Given the description of an element on the screen output the (x, y) to click on. 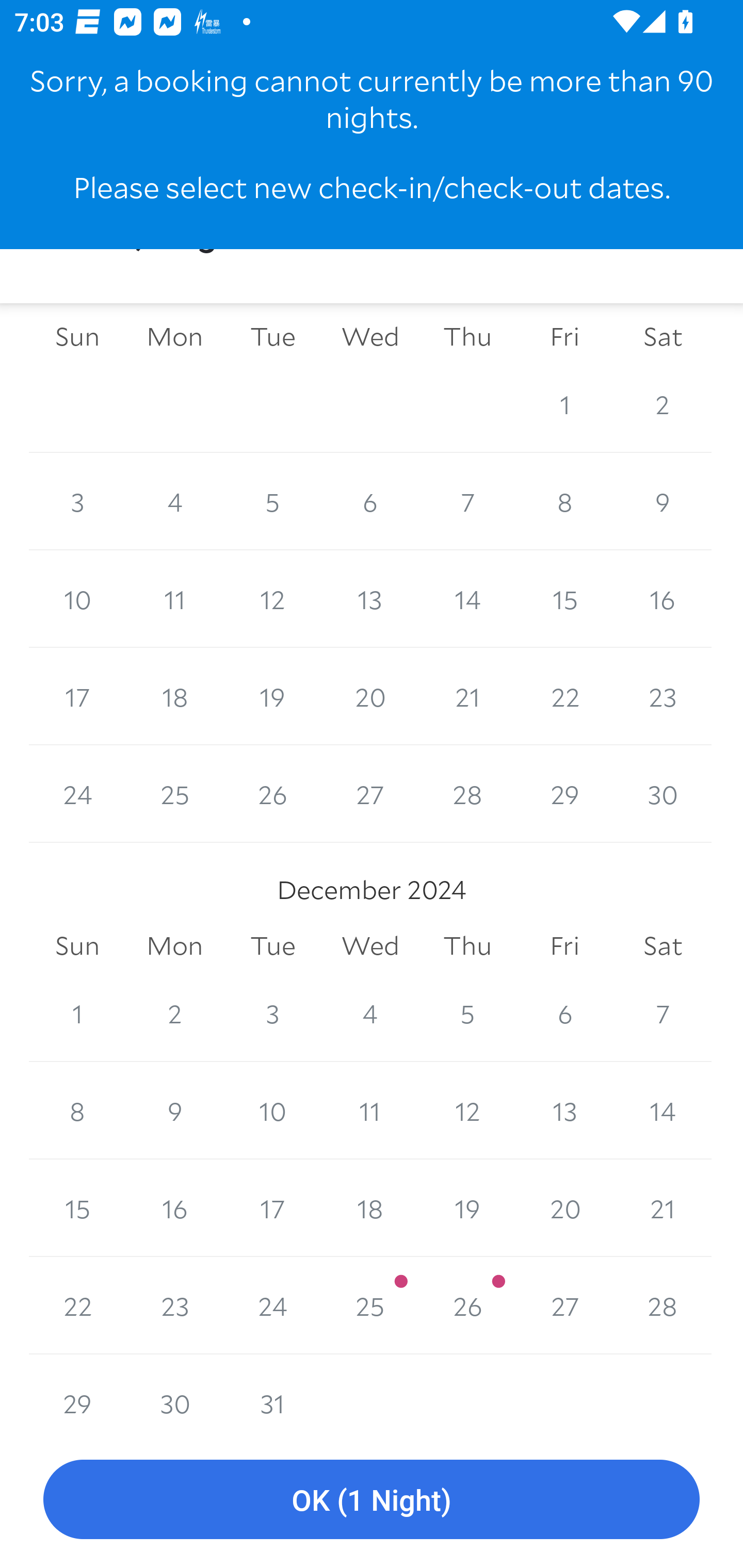
Sun (77, 336)
Mon (174, 336)
Tue (272, 336)
Wed (370, 336)
Thu (467, 336)
Fri (564, 336)
Sat (662, 336)
1 1 November 2024 (564, 404)
2 2 November 2024 (662, 404)
3 3 November 2024 (77, 501)
4 4 November 2024 (174, 501)
5 5 November 2024 (272, 501)
6 6 November 2024 (370, 501)
7 7 November 2024 (467, 501)
8 8 November 2024 (564, 501)
9 9 November 2024 (662, 501)
10 10 November 2024 (77, 598)
11 11 November 2024 (174, 598)
12 12 November 2024 (272, 598)
13 13 November 2024 (370, 598)
14 14 November 2024 (467, 598)
15 15 November 2024 (564, 598)
16 16 November 2024 (662, 598)
17 17 November 2024 (77, 695)
18 18 November 2024 (174, 695)
19 19 November 2024 (272, 695)
20 20 November 2024 (370, 695)
21 21 November 2024 (467, 695)
22 22 November 2024 (564, 695)
23 23 November 2024 (662, 695)
24 24 November 2024 (77, 793)
25 25 November 2024 (174, 793)
26 26 November 2024 (272, 793)
27 27 November 2024 (370, 793)
28 28 November 2024 (467, 793)
29 29 November 2024 (564, 793)
30 30 November 2024 (662, 793)
Sun (77, 945)
Mon (174, 945)
Tue (272, 945)
Wed (370, 945)
Thu (467, 945)
Fri (564, 945)
Sat (662, 945)
1 1 December 2024 (77, 1012)
2 2 December 2024 (174, 1012)
3 3 December 2024 (272, 1012)
4 4 December 2024 (370, 1012)
